Given the description of an element on the screen output the (x, y) to click on. 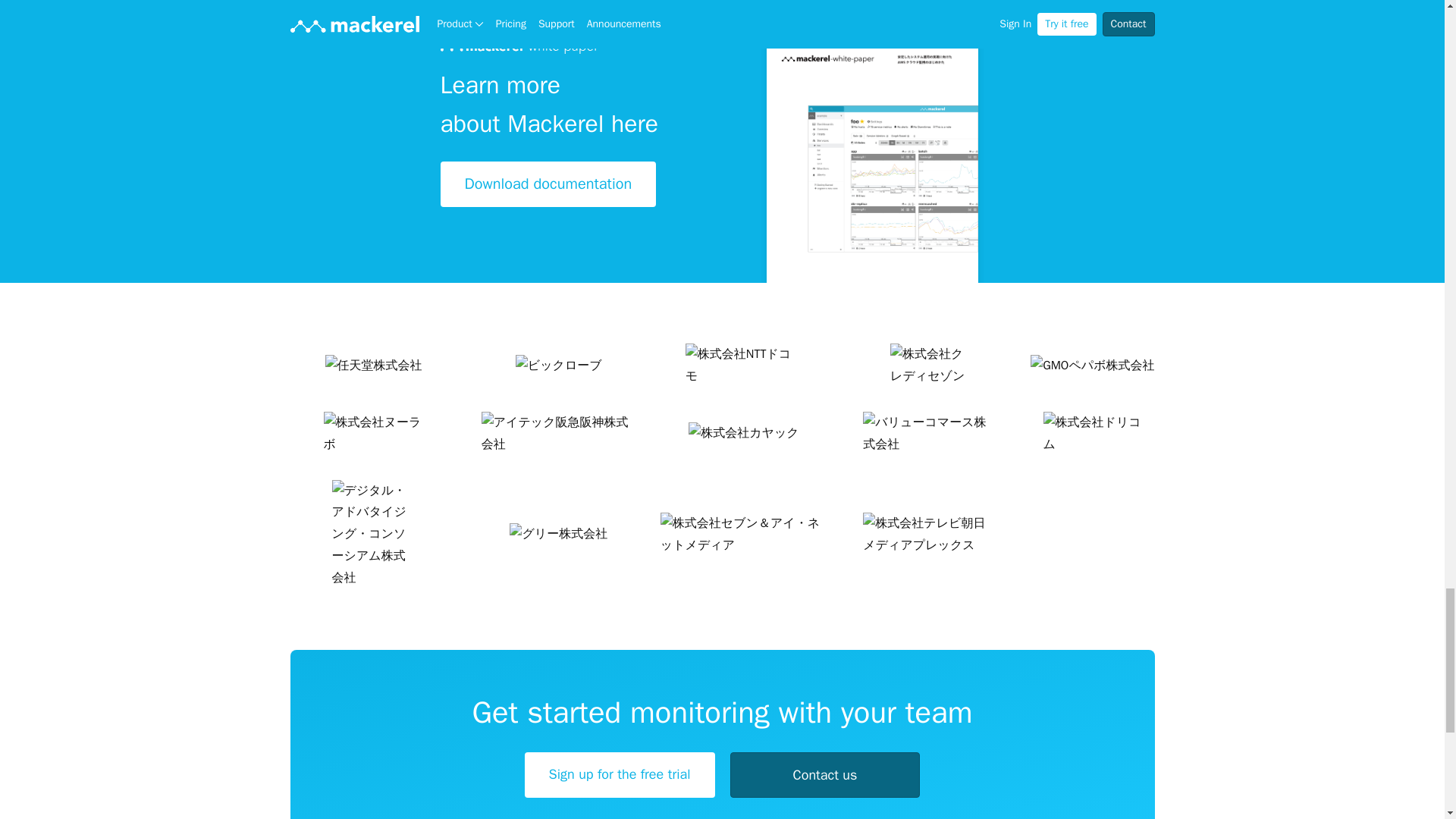
Download documentation (547, 184)
Sign up for the free trial (619, 774)
Contact us (824, 774)
